Given the description of an element on the screen output the (x, y) to click on. 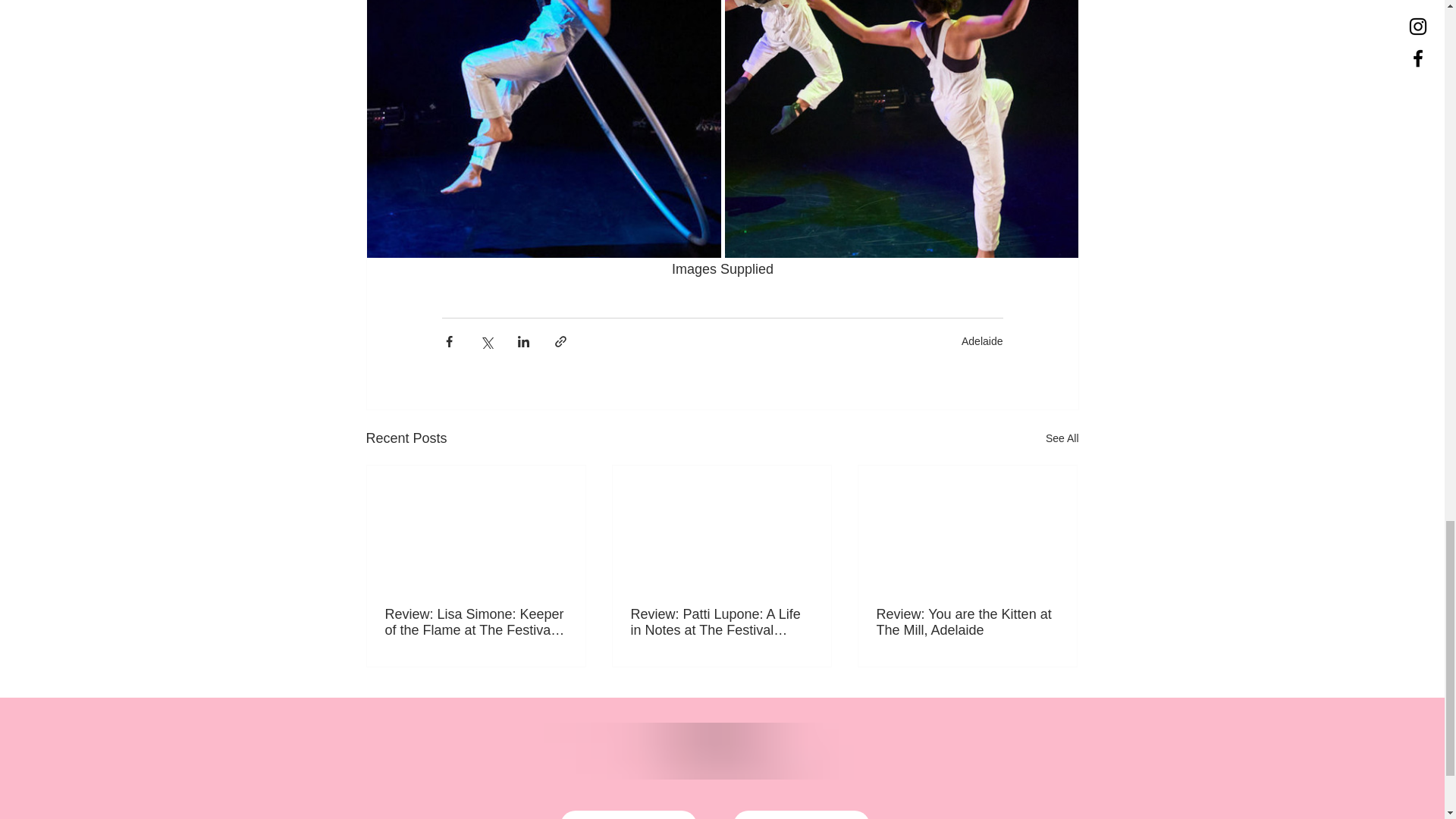
Contact Us (627, 814)
Invite Us (800, 814)
See All (1061, 438)
Review: You are the Kitten at The Mill, Adelaide  (967, 622)
Adelaide (981, 340)
